Given the description of an element on the screen output the (x, y) to click on. 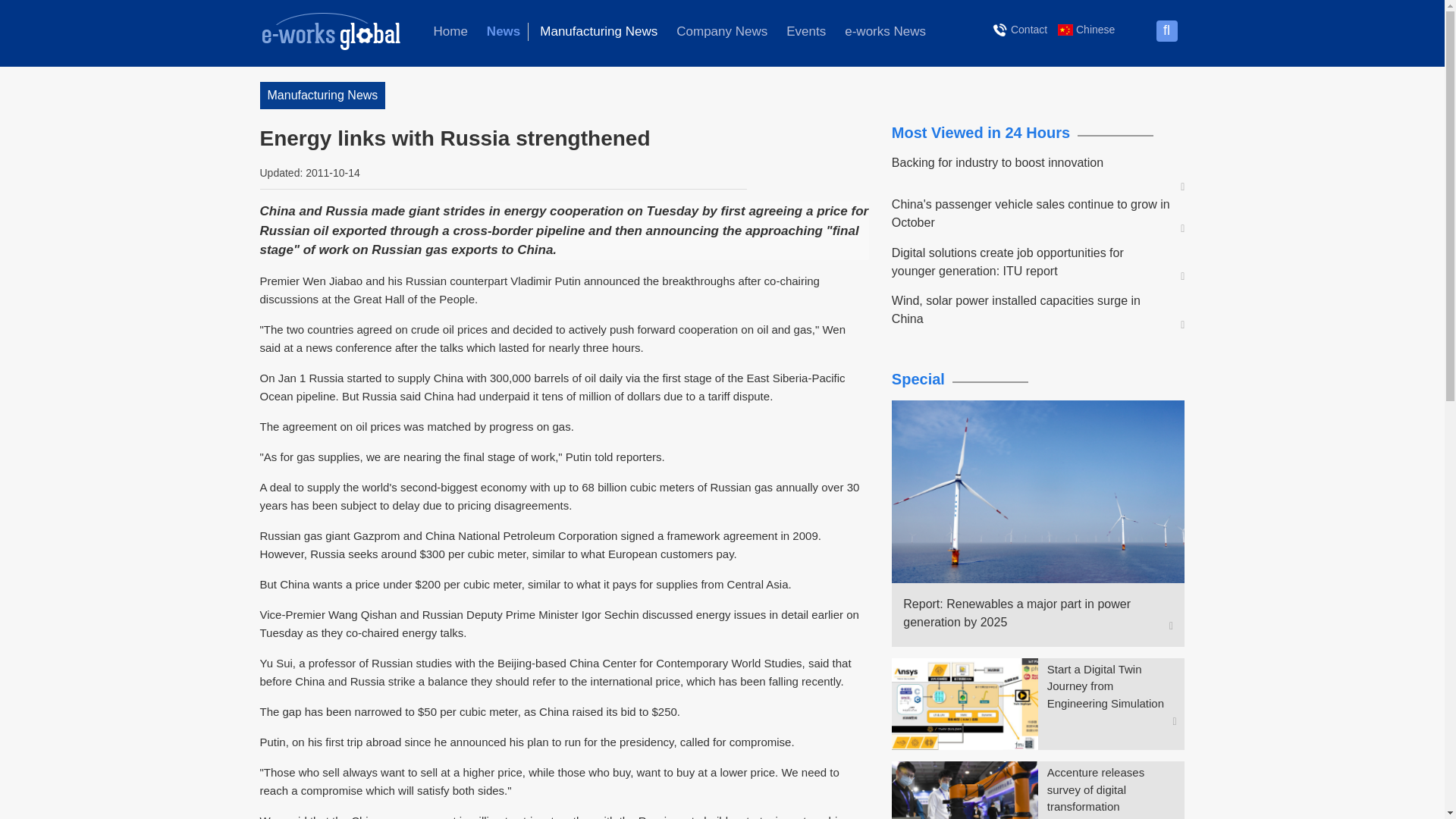
News (503, 31)
Home (451, 31)
China's passenger vehicle sales continue to grow in October (1030, 213)
e-works News (885, 31)
Start a Digital Twin Journey from Engineering Simulation (1111, 686)
Wind, solar power installed capacities surge in China (1030, 309)
Events (805, 31)
Backing for industry to boost innovation (1030, 162)
Report: Renewables a major part in power generation by 2025 (1030, 613)
Contact (1020, 29)
Accenture releases survey of digital transformation (1111, 789)
Company News (721, 31)
Manufacturing News (598, 31)
Chinese (1086, 29)
